Given the description of an element on the screen output the (x, y) to click on. 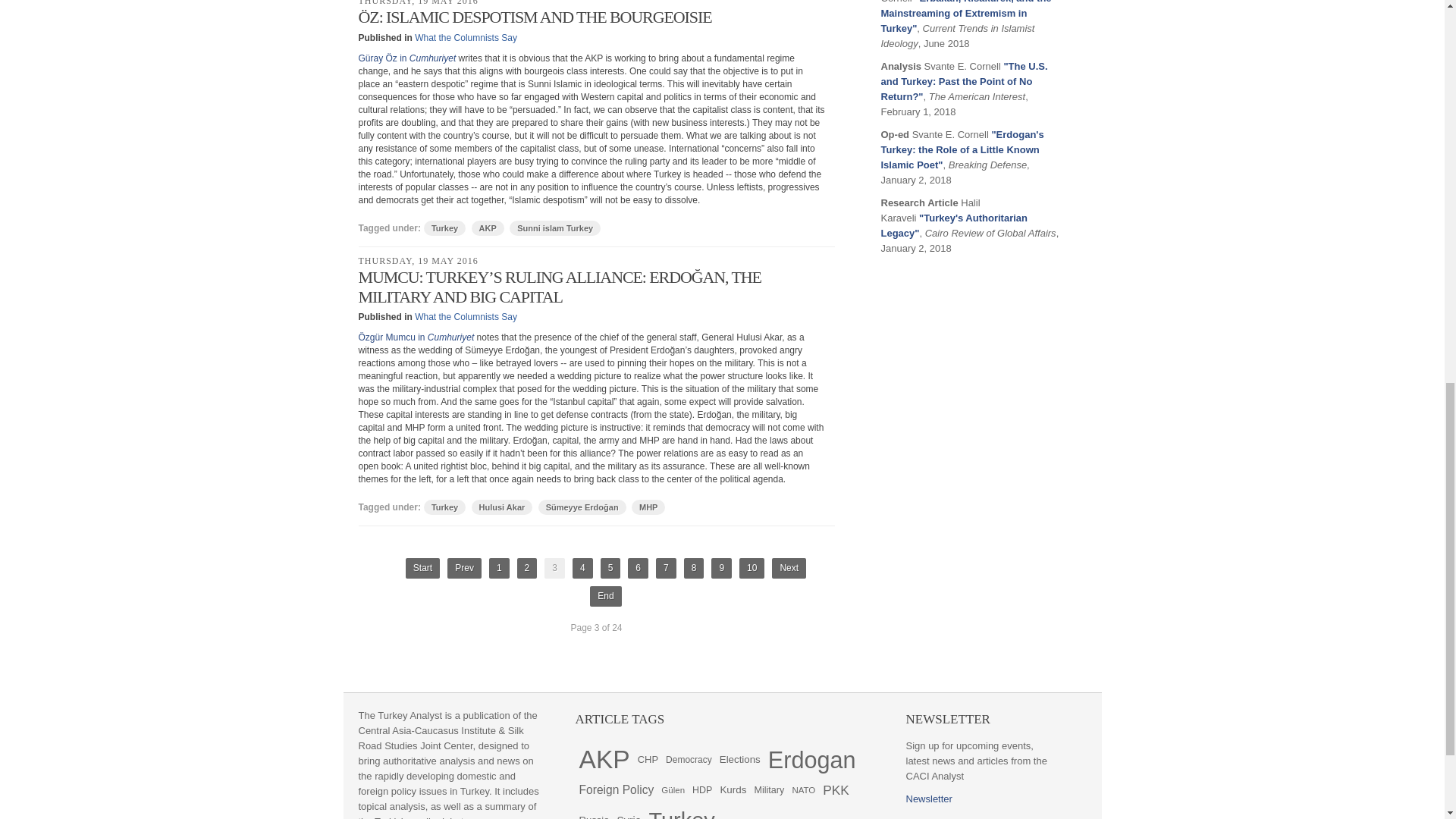
Turkey (444, 507)
1 (499, 567)
190 items tagged with AKP (604, 759)
38 items tagged with CHP (647, 759)
6 (637, 567)
Start (422, 567)
4 (582, 567)
2 (526, 567)
What the Columnists Say (465, 317)
AKP (487, 227)
